Given the description of an element on the screen output the (x, y) to click on. 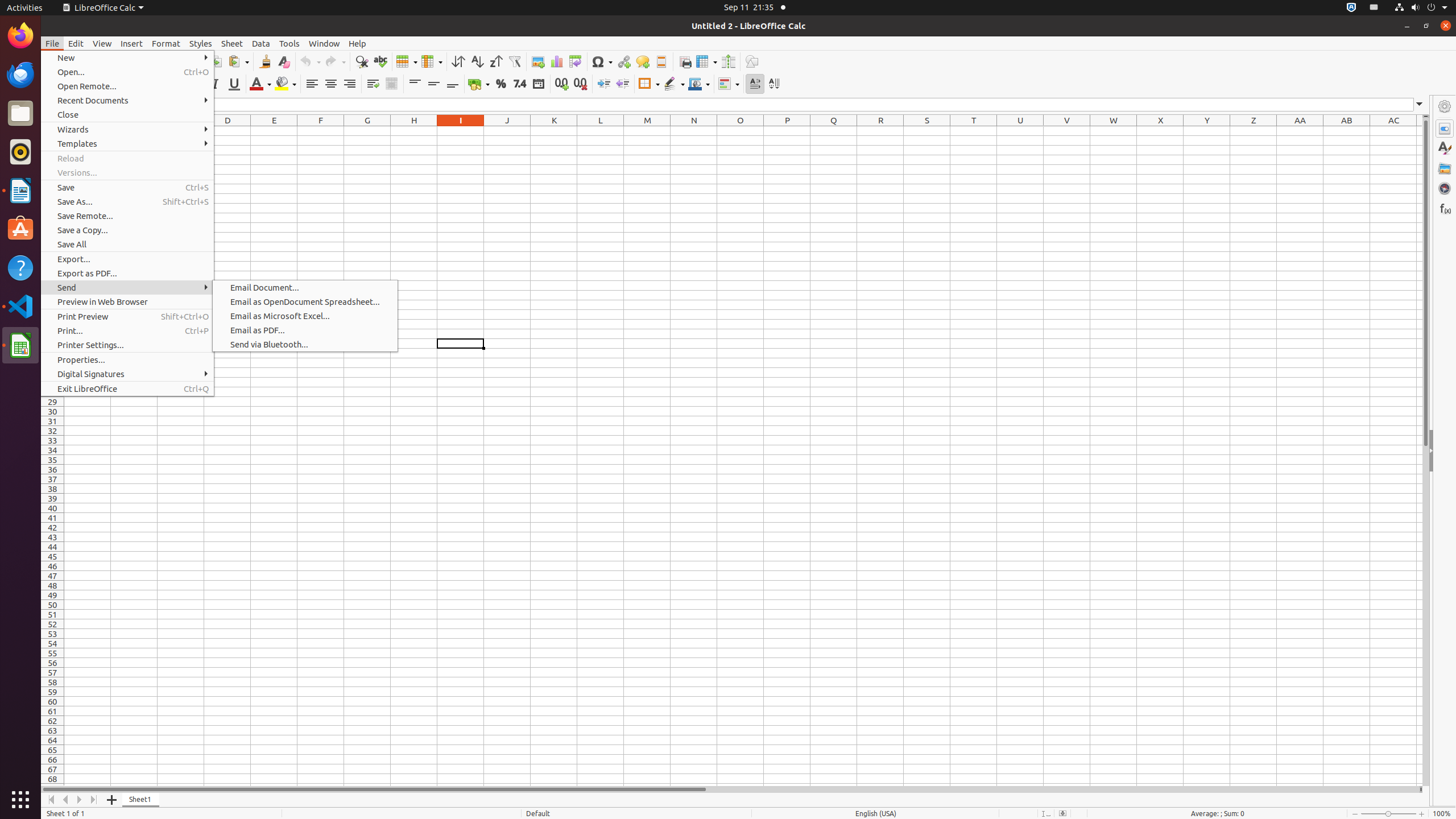
Align Center Element type: push-button (330, 83)
Send Element type: menu (126, 287)
I1 Element type: table-cell (460, 130)
Reload Element type: menu-item (126, 158)
Number Element type: push-button (519, 83)
